Given the description of an element on the screen output the (x, y) to click on. 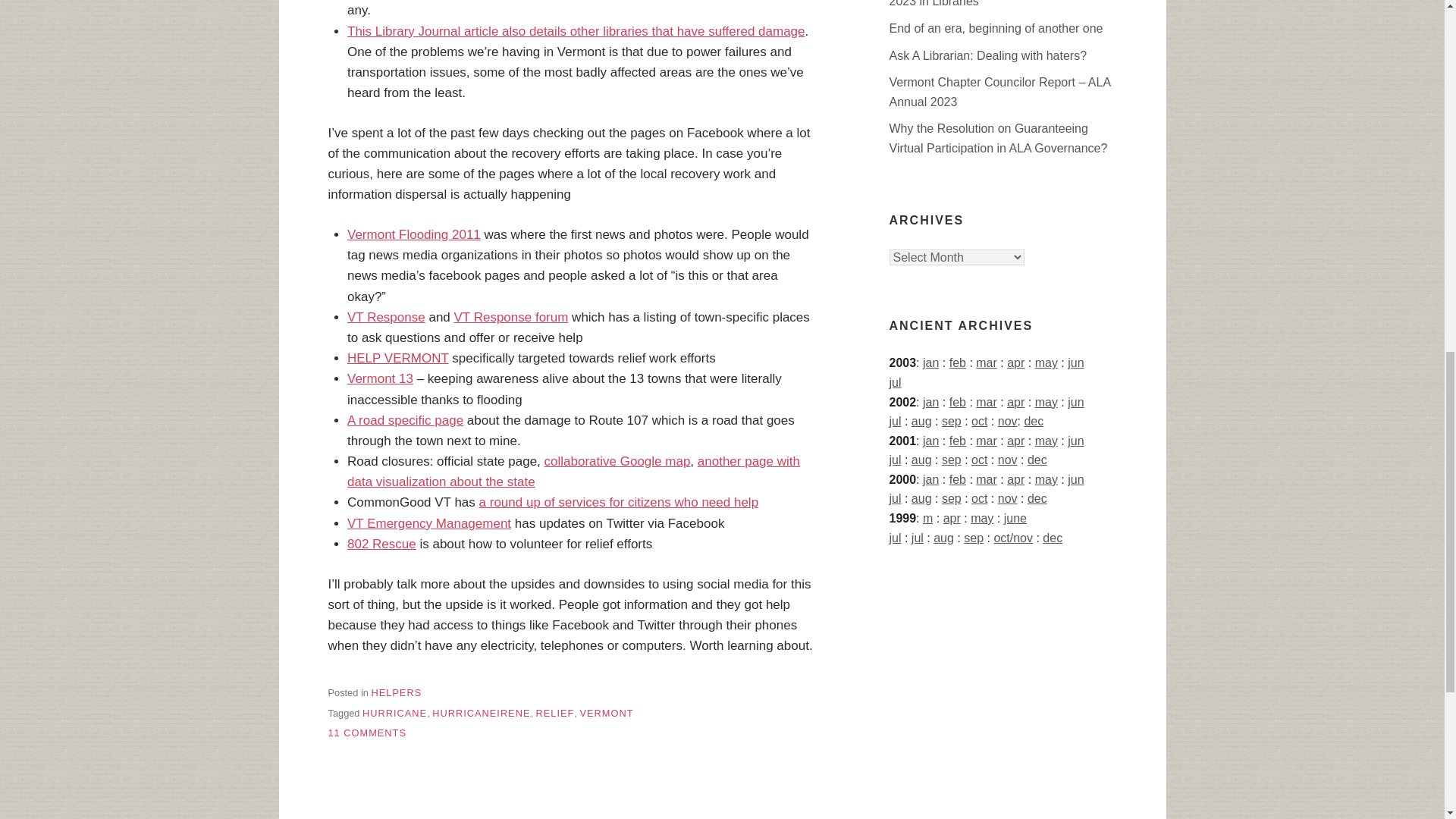
VERMONT (606, 713)
VT Response (386, 317)
another page with data visualization about the state (573, 471)
collaborative Google map (617, 461)
Vermont 13 (380, 378)
A road specific page (405, 420)
802 Rescue (381, 544)
HELPERS (396, 692)
RELIEF (555, 713)
HURRICANE (394, 713)
